Given the description of an element on the screen output the (x, y) to click on. 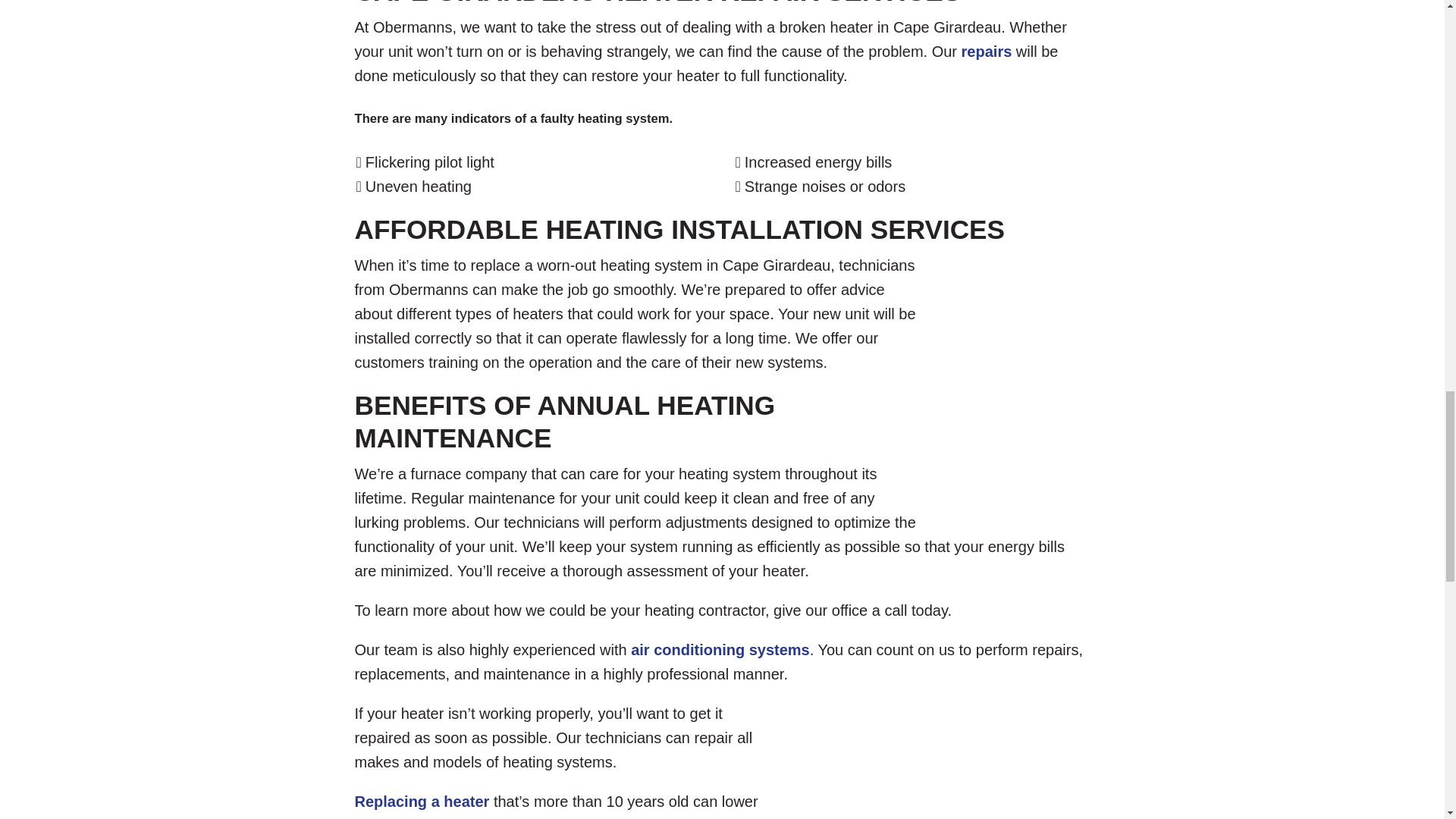
Replacing a heater (422, 801)
air conditioning systems (719, 649)
repairs (985, 51)
